Given the description of an element on the screen output the (x, y) to click on. 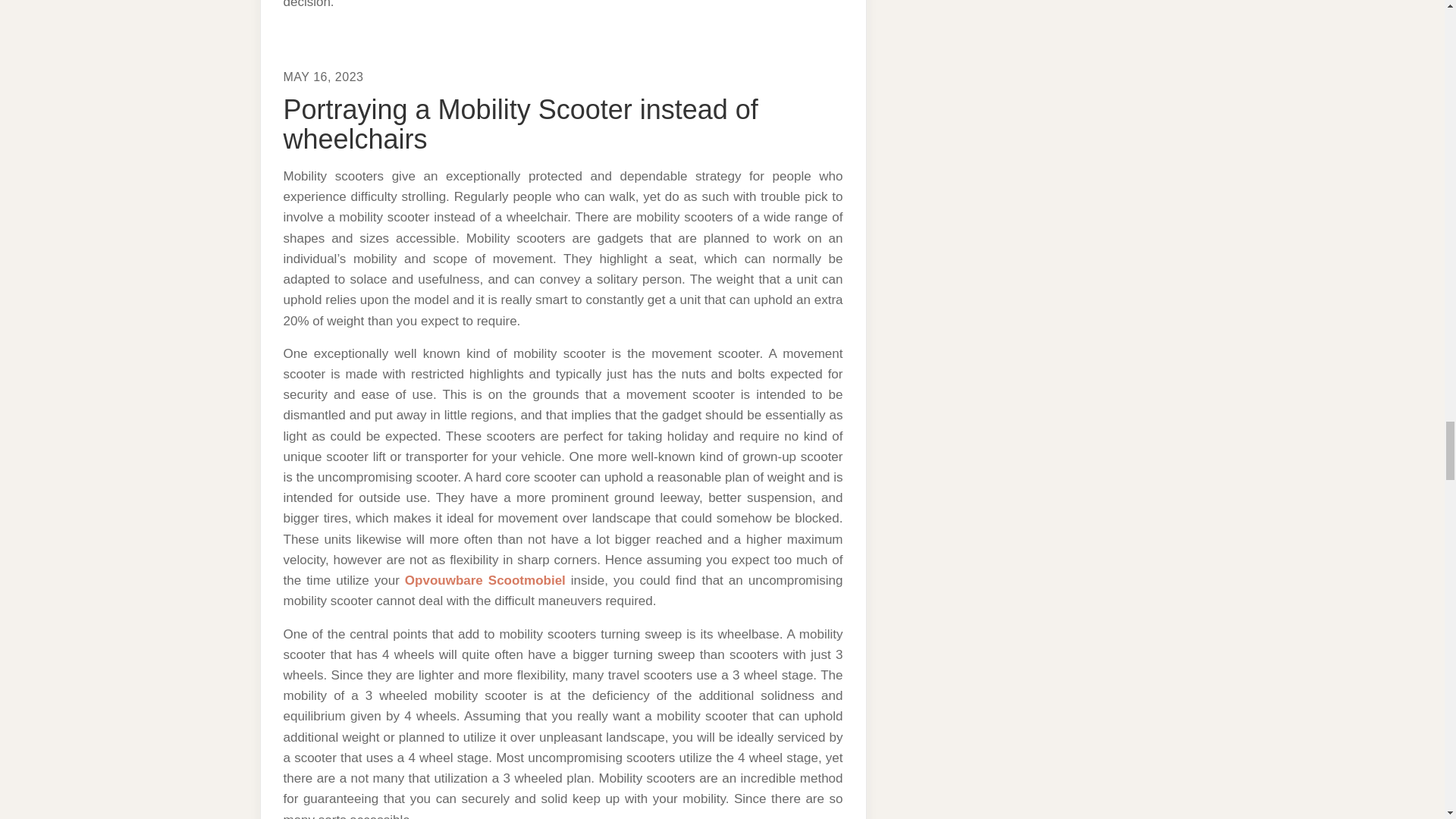
MAY 16, 2023 (323, 76)
Opvouwbare Scootmobiel (485, 580)
Portraying a Mobility Scooter instead of wheelchairs (520, 124)
